Given the description of an element on the screen output the (x, y) to click on. 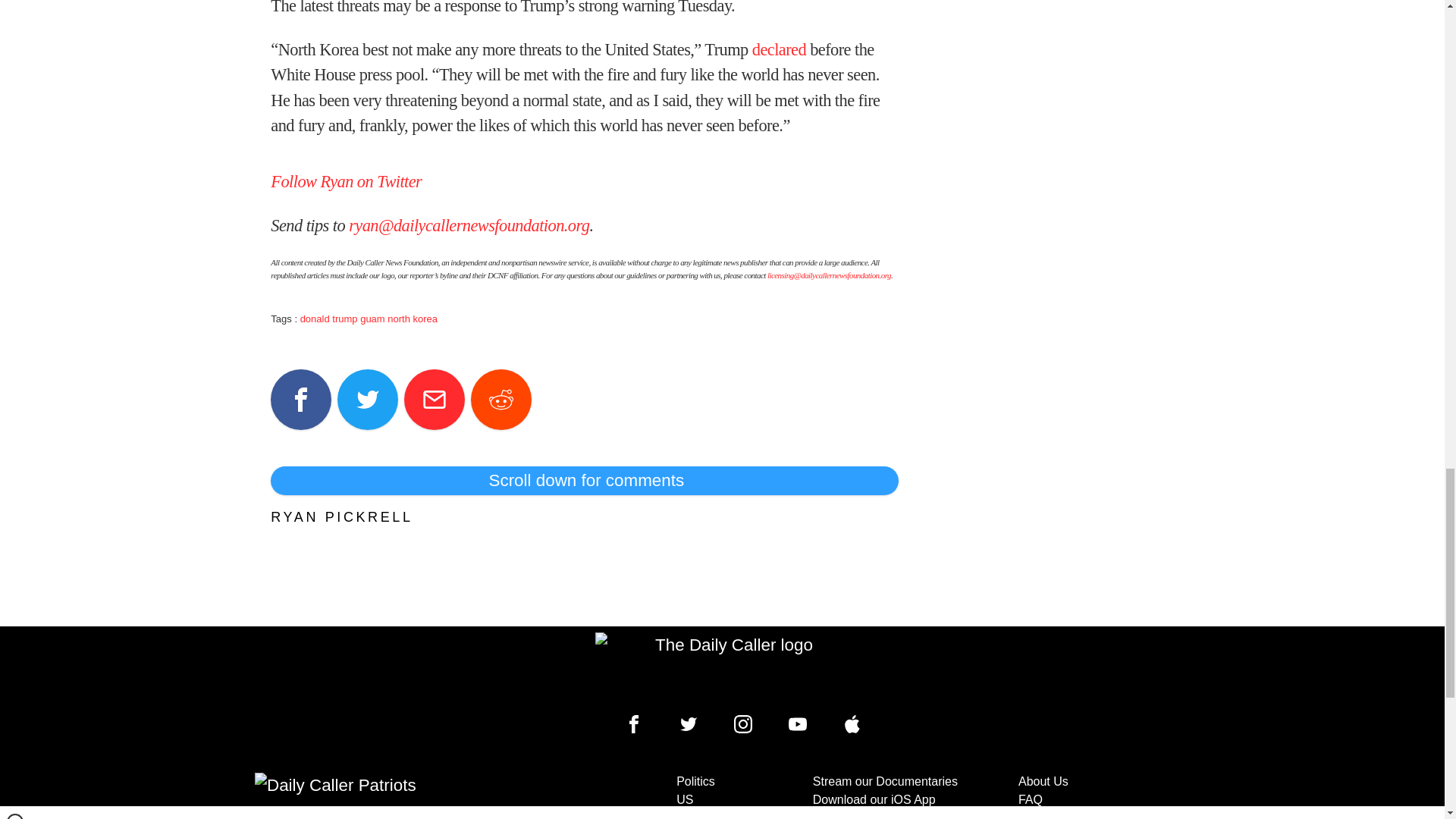
Daily Caller Facebook (633, 723)
To home page (727, 667)
Daily Caller Instagram (742, 723)
Daily Caller YouTube (797, 723)
Daily Caller YouTube (852, 723)
Subscribe to The Daily Caller (405, 796)
Scroll down for comments (584, 480)
Daily Caller Twitter (688, 723)
